Given the description of an element on the screen output the (x, y) to click on. 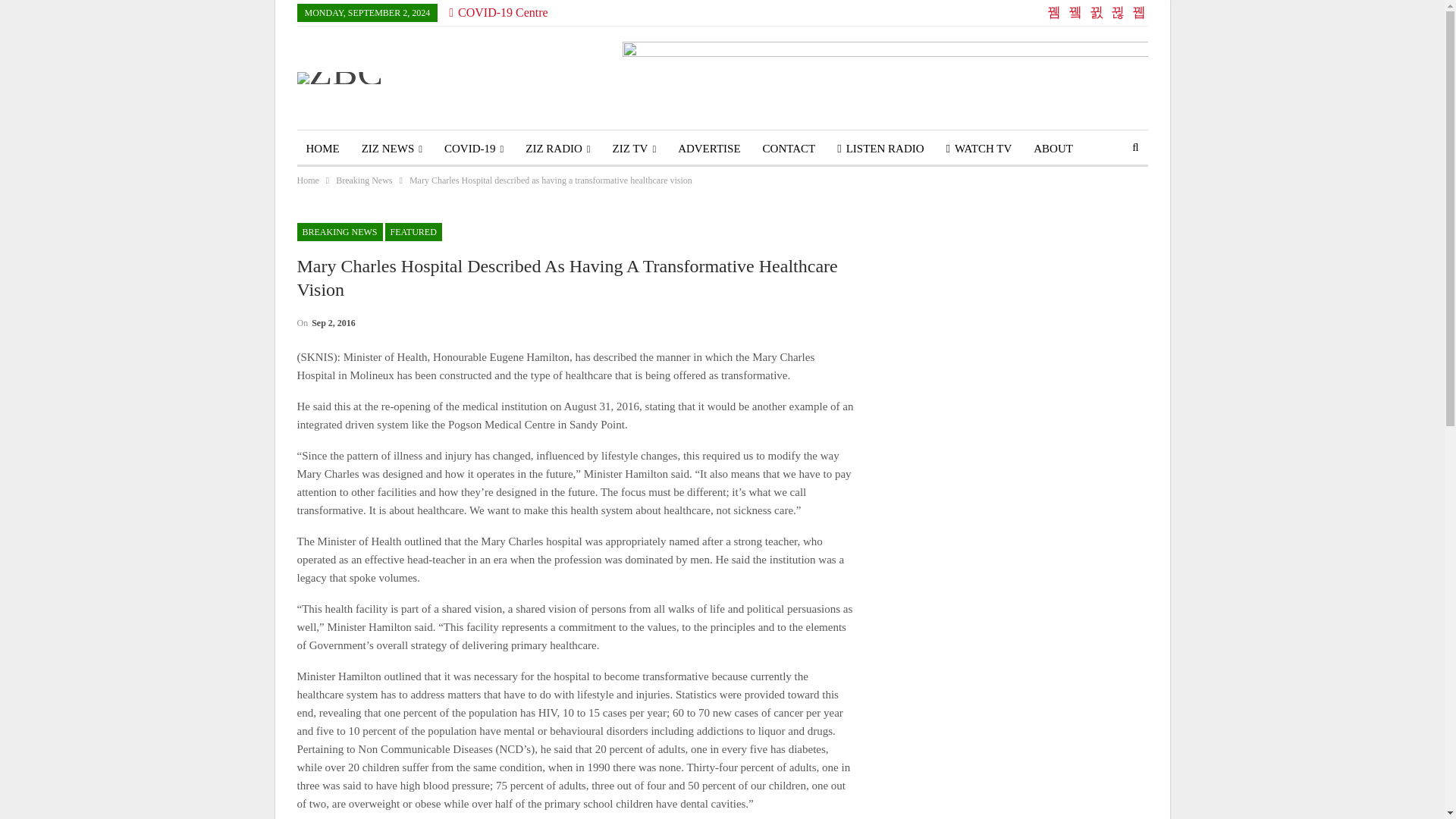
HOME (323, 148)
COVID-19 Centre (497, 11)
ZIZ RADIO (557, 148)
ZIZ NEWS (391, 148)
COVID-19 (473, 148)
